Given the description of an element on the screen output the (x, y) to click on. 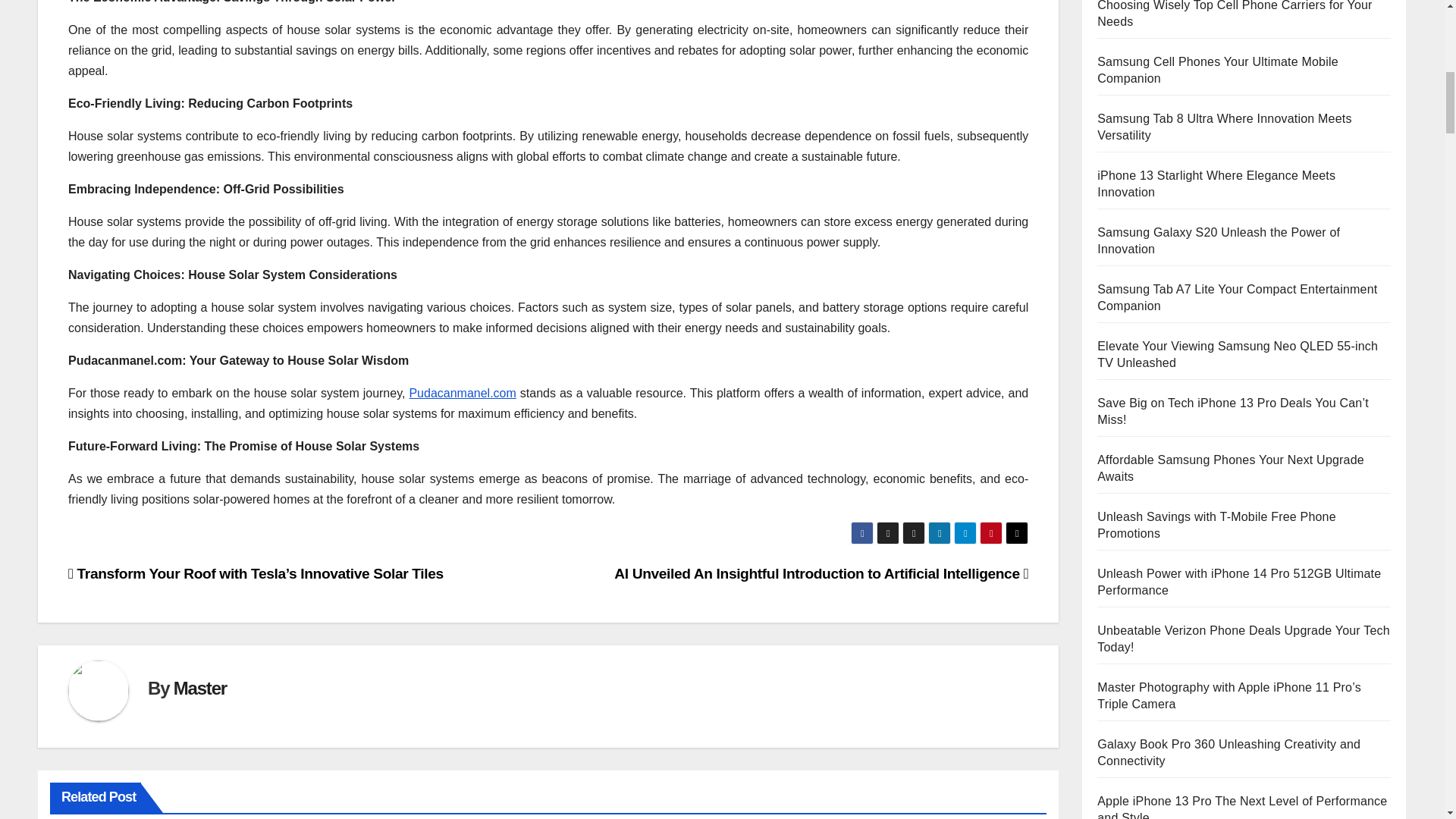
Pudacanmanel.com (462, 392)
Master (200, 688)
